Given the description of an element on the screen output the (x, y) to click on. 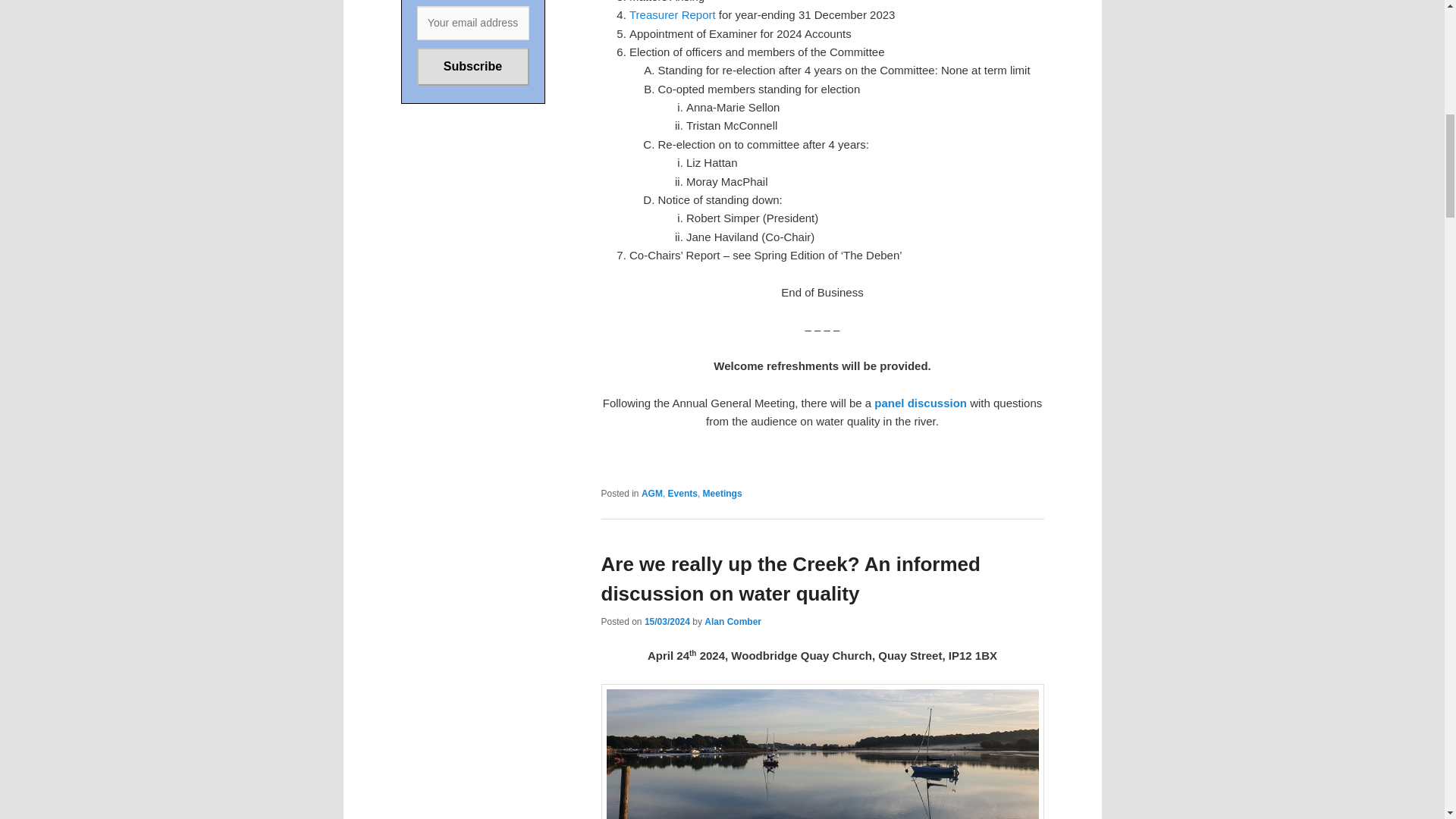
Subscribe (472, 66)
